Given the description of an element on the screen output the (x, y) to click on. 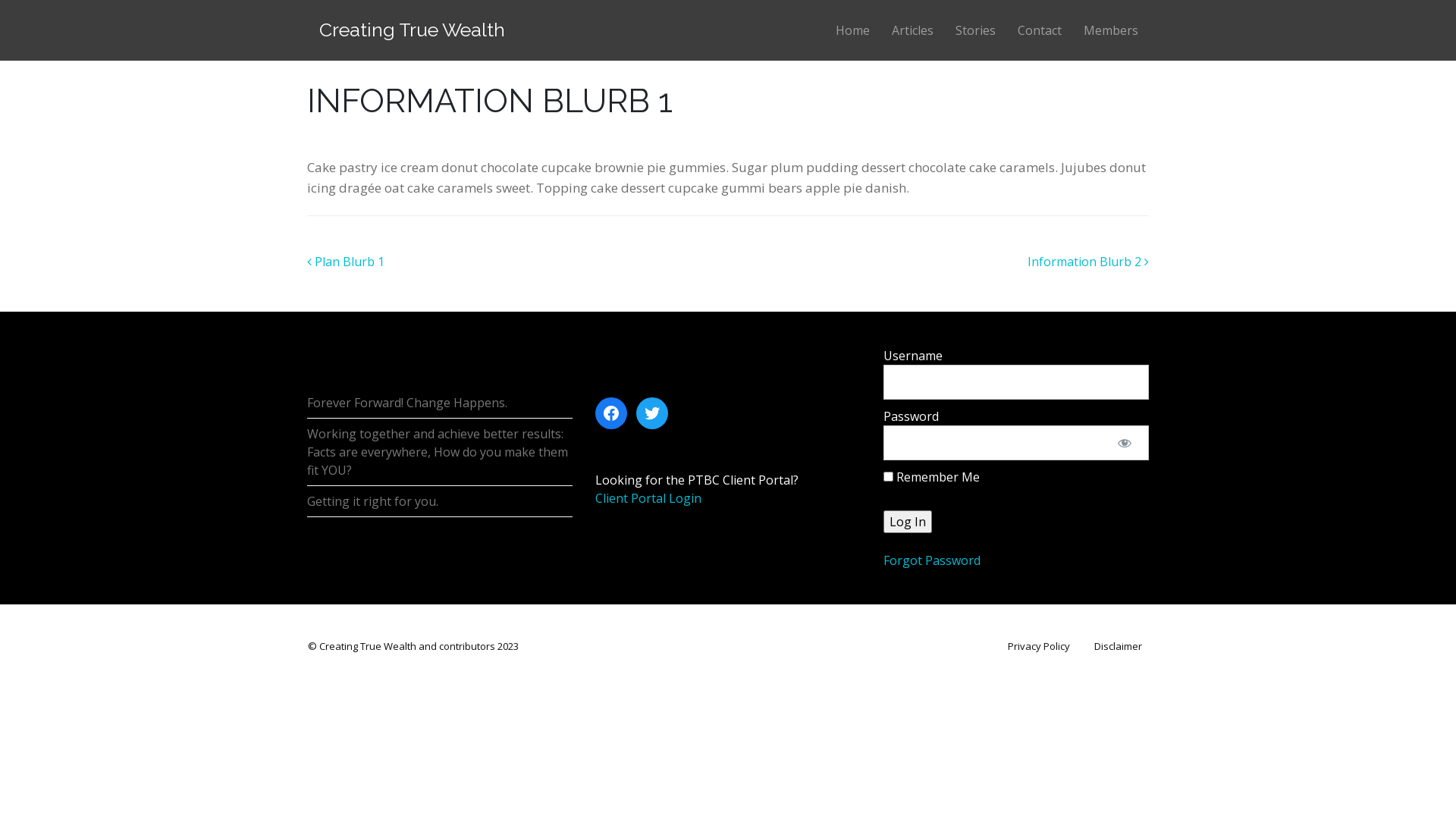
Stories Element type: text (975, 30)
Information Blurb 2  Element type: text (1087, 261)
Disclaimer Element type: text (1118, 646)
Members Element type: text (1110, 30)
Twitter Element type: text (651, 412)
Home Element type: text (853, 30)
Getting it right for you. Element type: text (372, 500)
Articles Element type: text (912, 30)
Privacy Policy Element type: text (1038, 646)
 Plan Blurb 1 Element type: text (345, 261)
Client Portal Login Element type: text (648, 497)
Creating True Wealth Element type: text (412, 29)
Contact Element type: text (1039, 30)
Forgot Password Element type: text (931, 560)
Facebook Element type: text (610, 412)
Log In Element type: text (907, 521)
Forever Forward! Change Happens. Element type: text (407, 402)
